Given the description of an element on the screen output the (x, y) to click on. 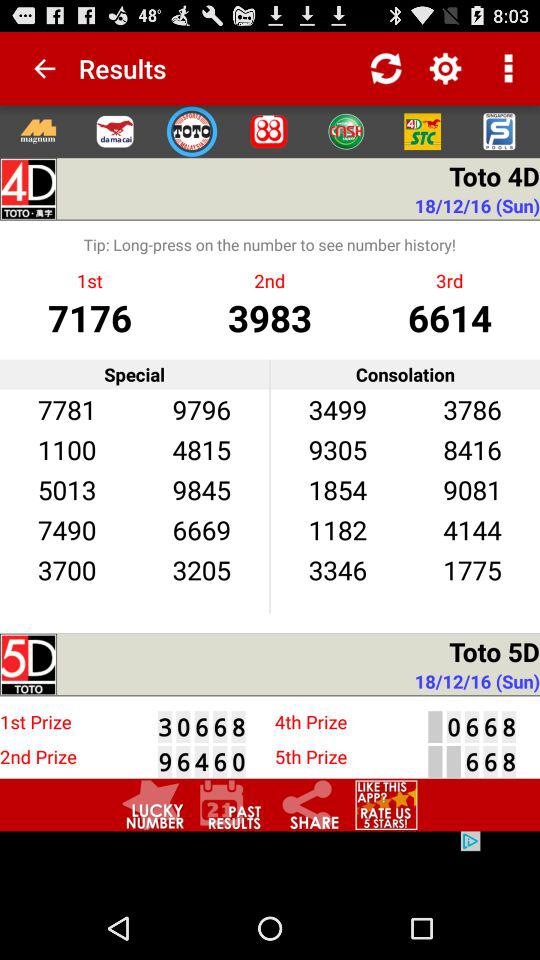
open feedback page (386, 804)
